Given the description of an element on the screen output the (x, y) to click on. 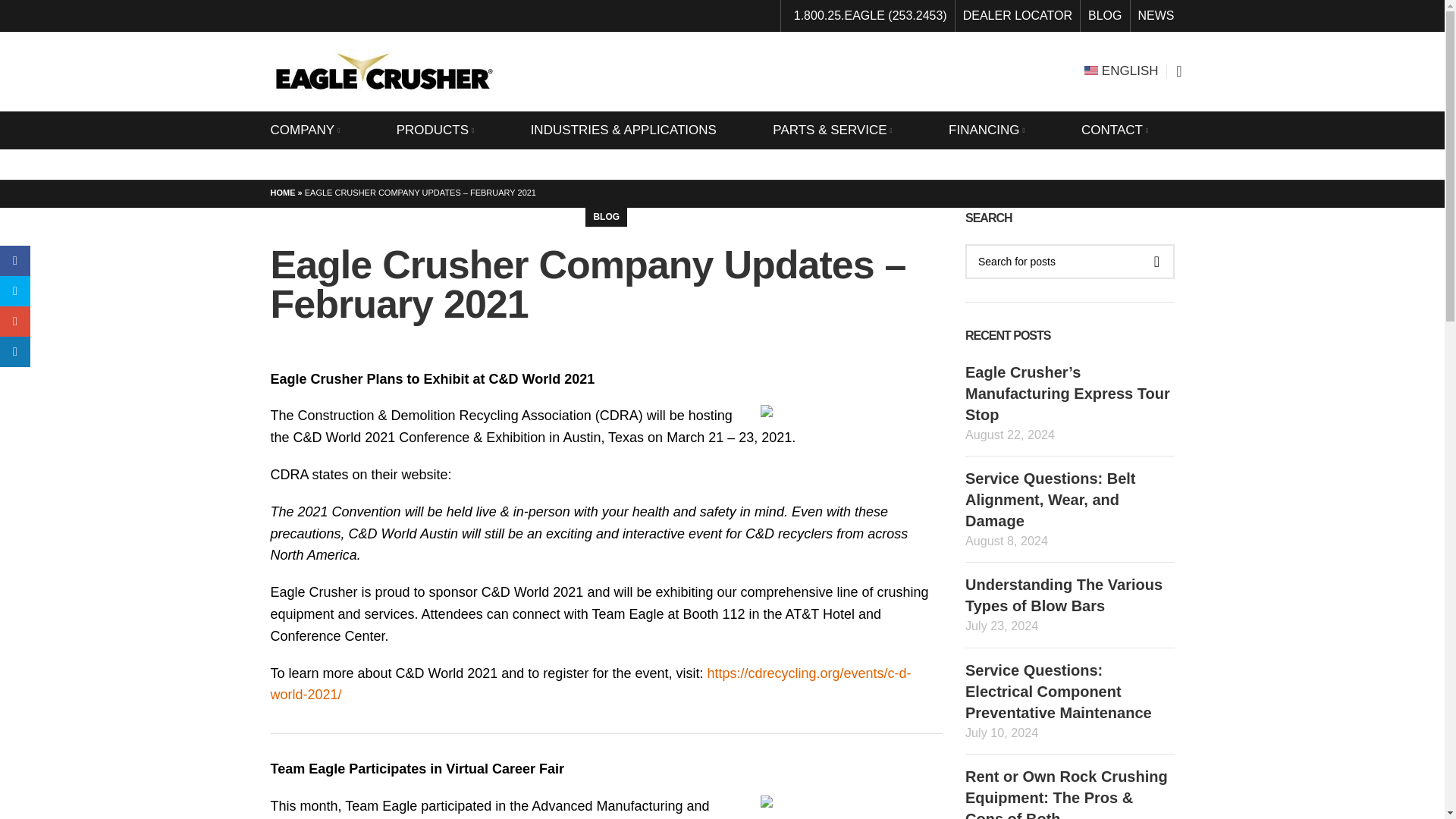
Search for posts (1069, 261)
English (1121, 71)
COMPANY (317, 130)
NEWS (1155, 15)
PRODUCTS (448, 130)
Permalink to Understanding The Various Types of Blow Bars (1063, 595)
BLOG (1104, 15)
DEALER LOCATOR (1016, 15)
